Given the description of an element on the screen output the (x, y) to click on. 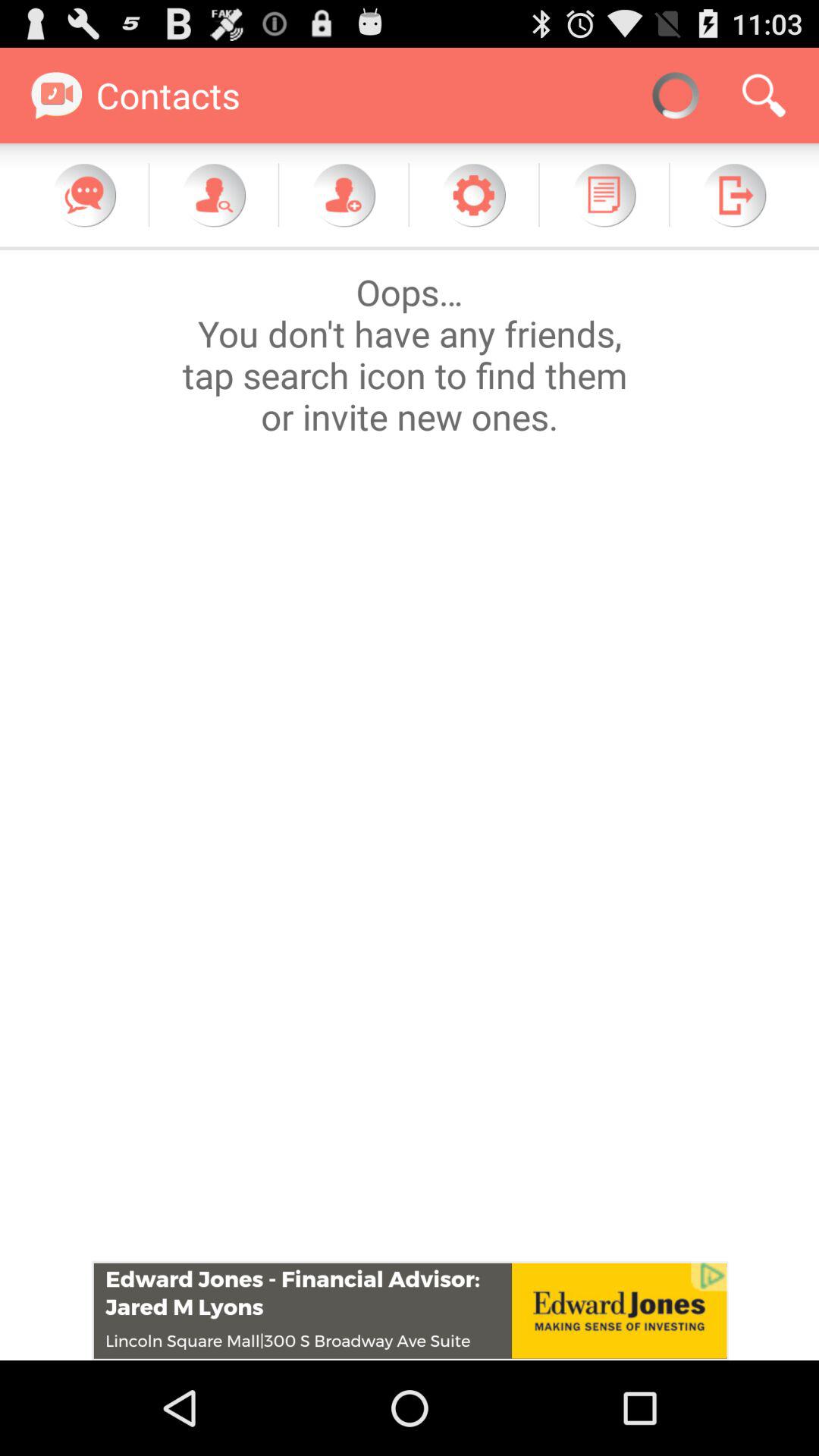
chat feature (84, 194)
